Given the description of an element on the screen output the (x, y) to click on. 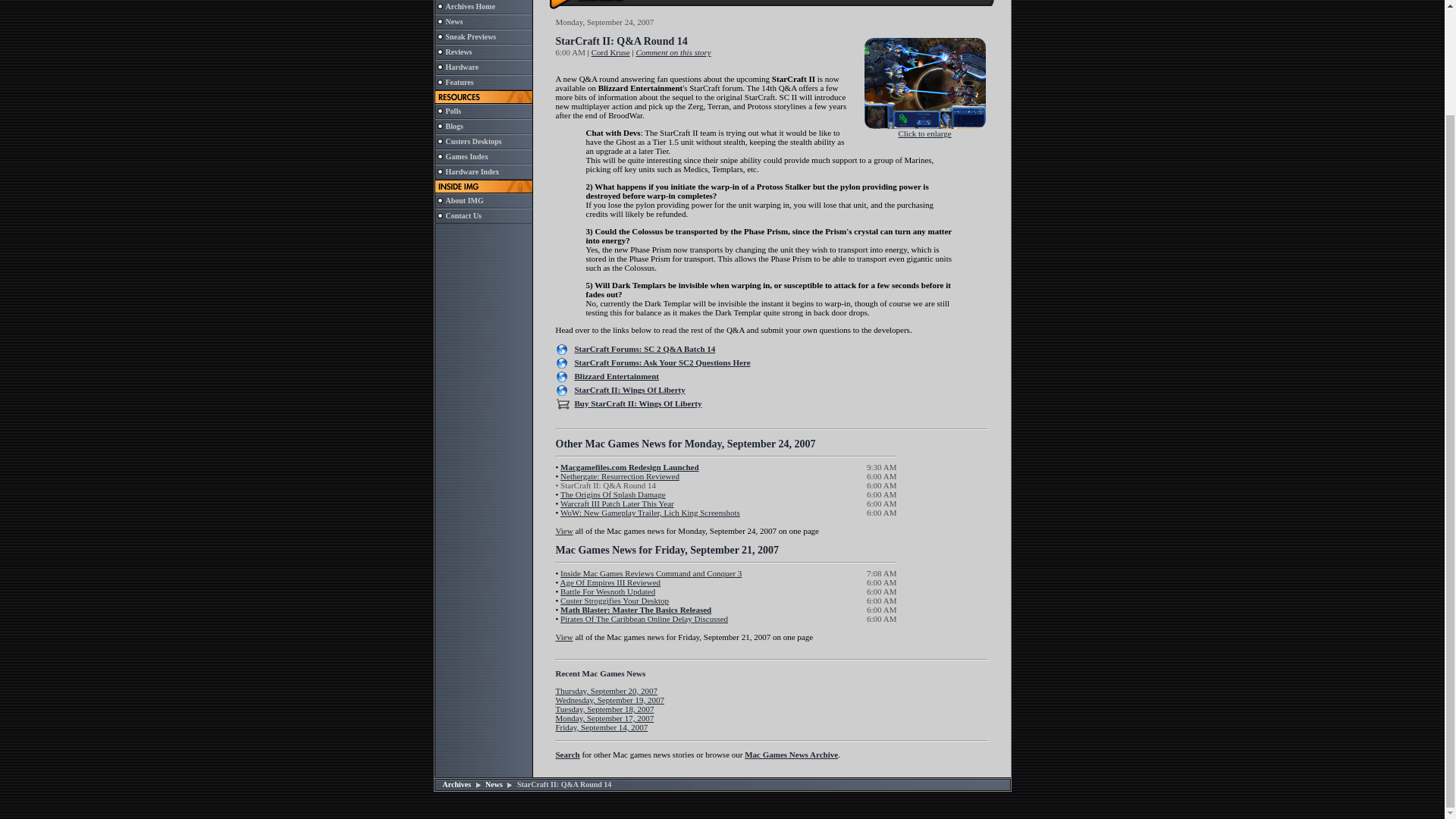
Blogs (454, 126)
Polls (453, 111)
About IMG (464, 200)
Games Index (466, 156)
Contact Us (463, 215)
Features (459, 81)
Cord Kruse (610, 51)
View (563, 530)
Hardware (462, 67)
Blizzard Entertainment (617, 375)
Custers Desktops (473, 141)
Comment on this story (672, 51)
StarCraft Forums: Ask Your SC2 Questions Here (663, 361)
StarCraft II: Wings Of Liberty (630, 388)
Battle For Wesnoth Updated (607, 591)
